Given the description of an element on the screen output the (x, y) to click on. 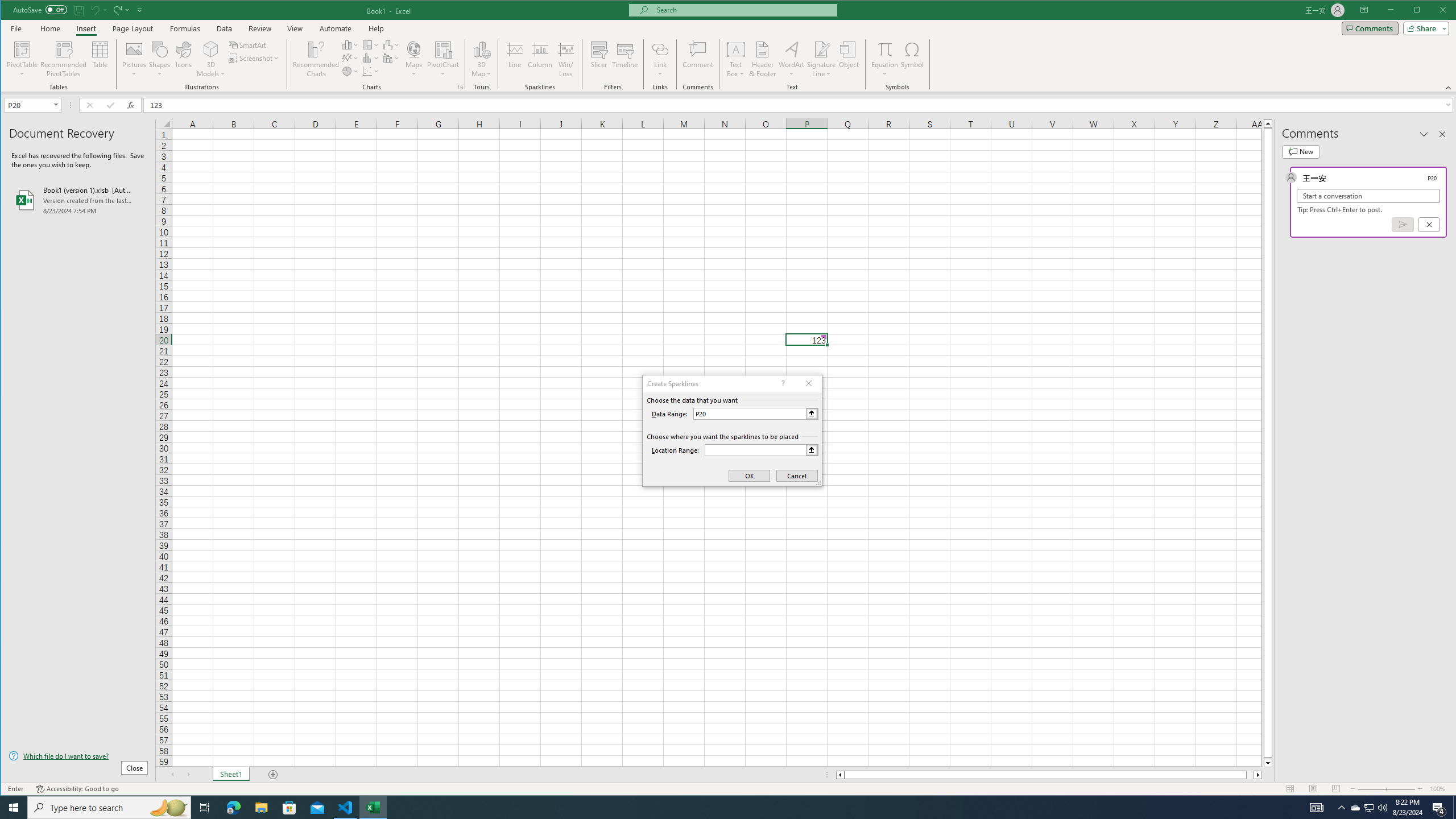
New comment (1300, 151)
PivotTable (22, 48)
Post comment (Ctrl + Enter) (1402, 224)
3D Models (211, 48)
Cancel (1428, 224)
